Given the description of an element on the screen output the (x, y) to click on. 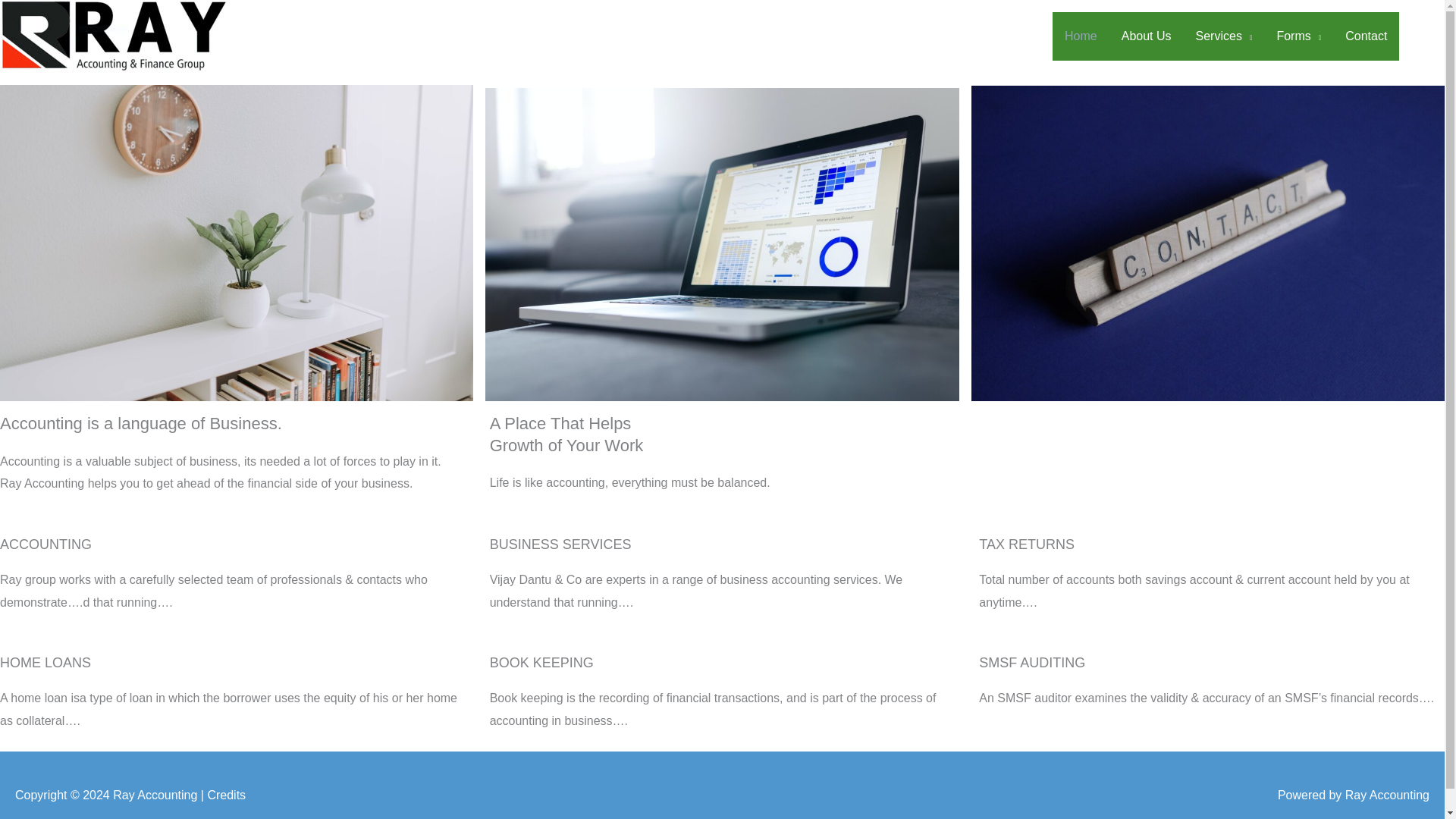
Home (1080, 36)
Forms (1298, 36)
Credits (226, 794)
Services (1224, 36)
About Us (1146, 36)
Contact (1366, 36)
